Given the description of an element on the screen output the (x, y) to click on. 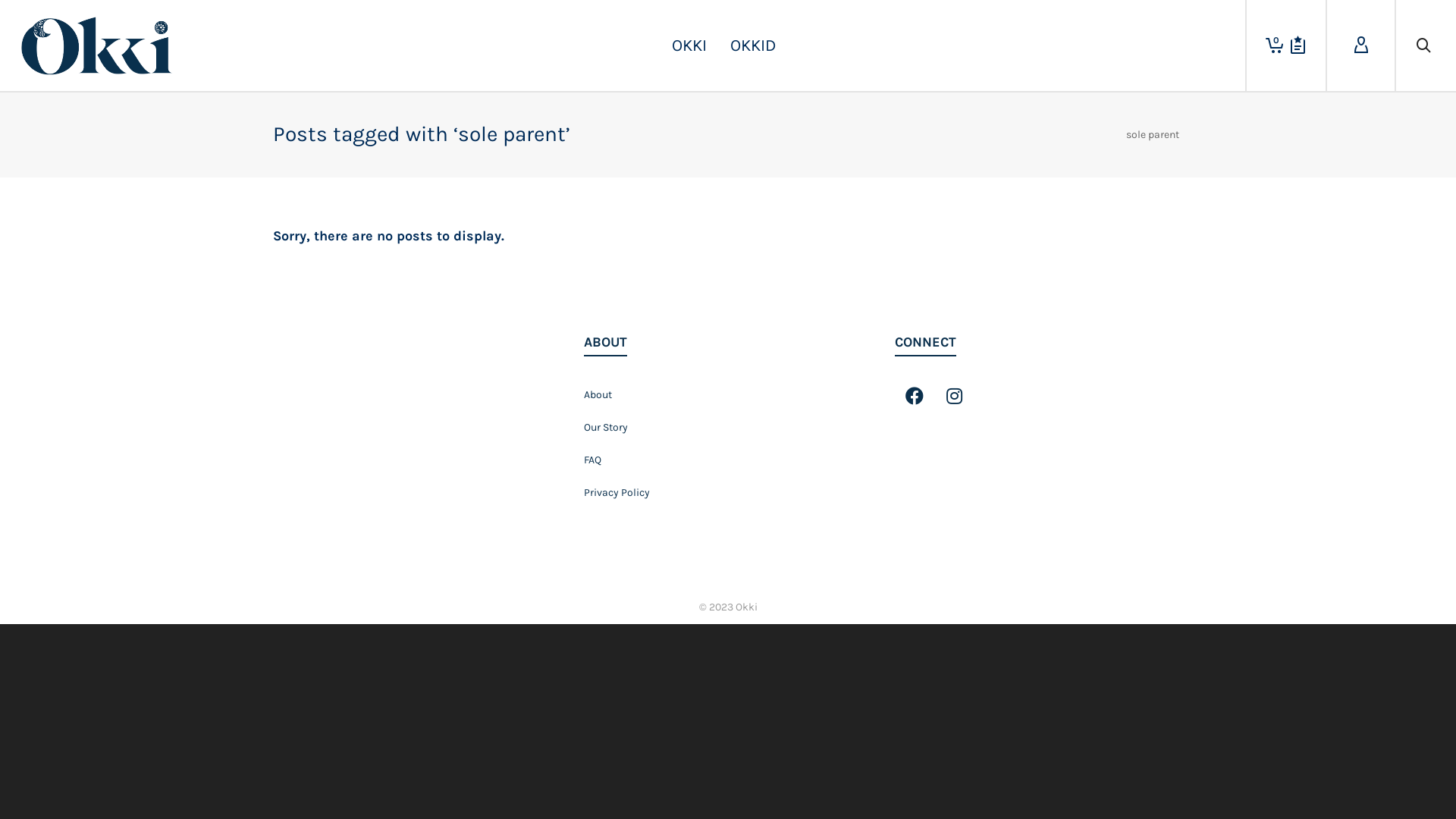
View your wishlist Element type: hover (1297, 45)
Our Story Element type: text (727, 426)
Privacy Policy Element type: text (727, 492)
FAQ Element type: text (727, 459)
About Element type: text (727, 394)
0 Element type: text (1269, 45)
OKKID Element type: text (752, 45)
OKKI Element type: text (688, 45)
